Given the description of an element on the screen output the (x, y) to click on. 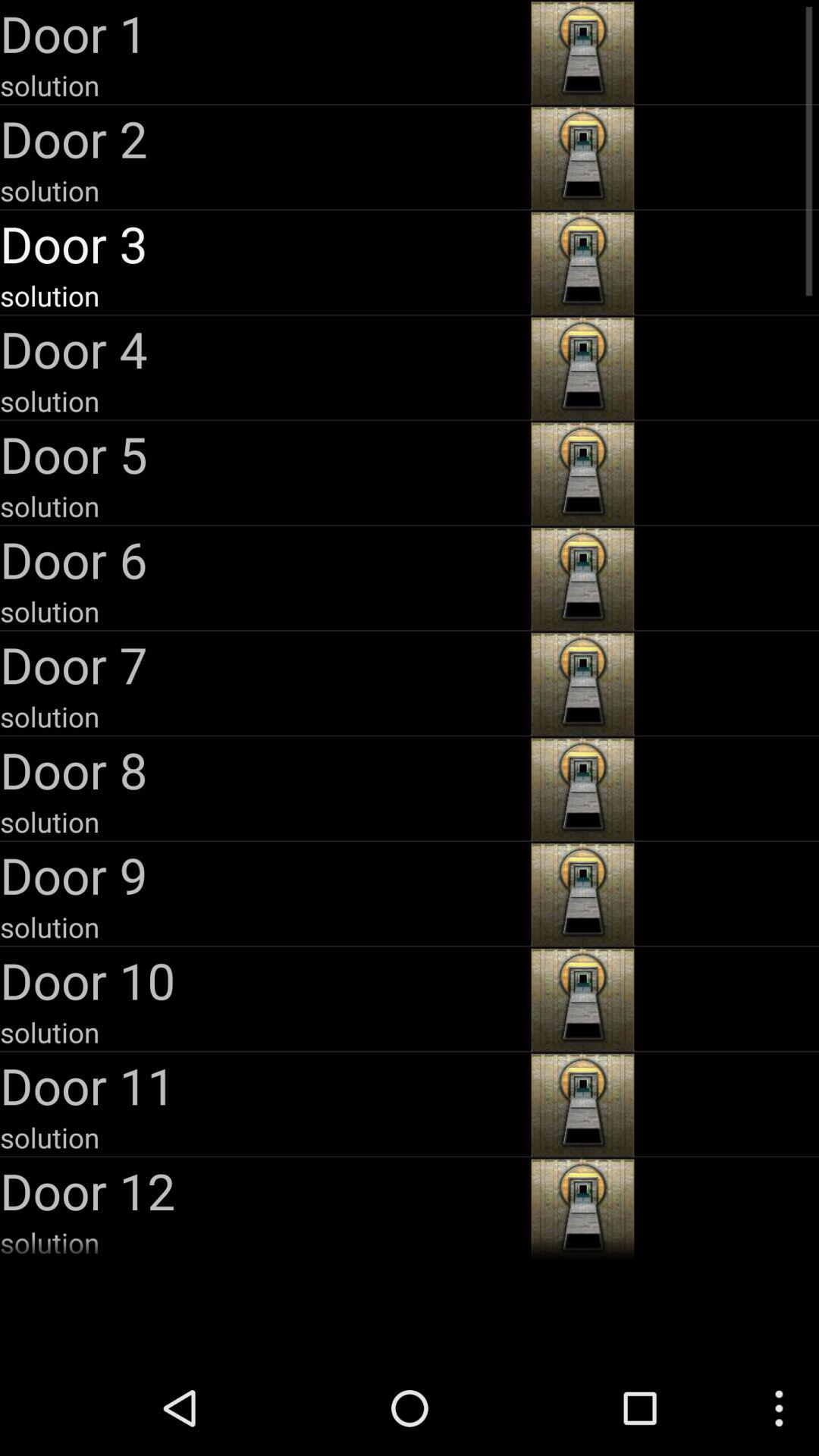
click the item below the solution item (263, 348)
